Given the description of an element on the screen output the (x, y) to click on. 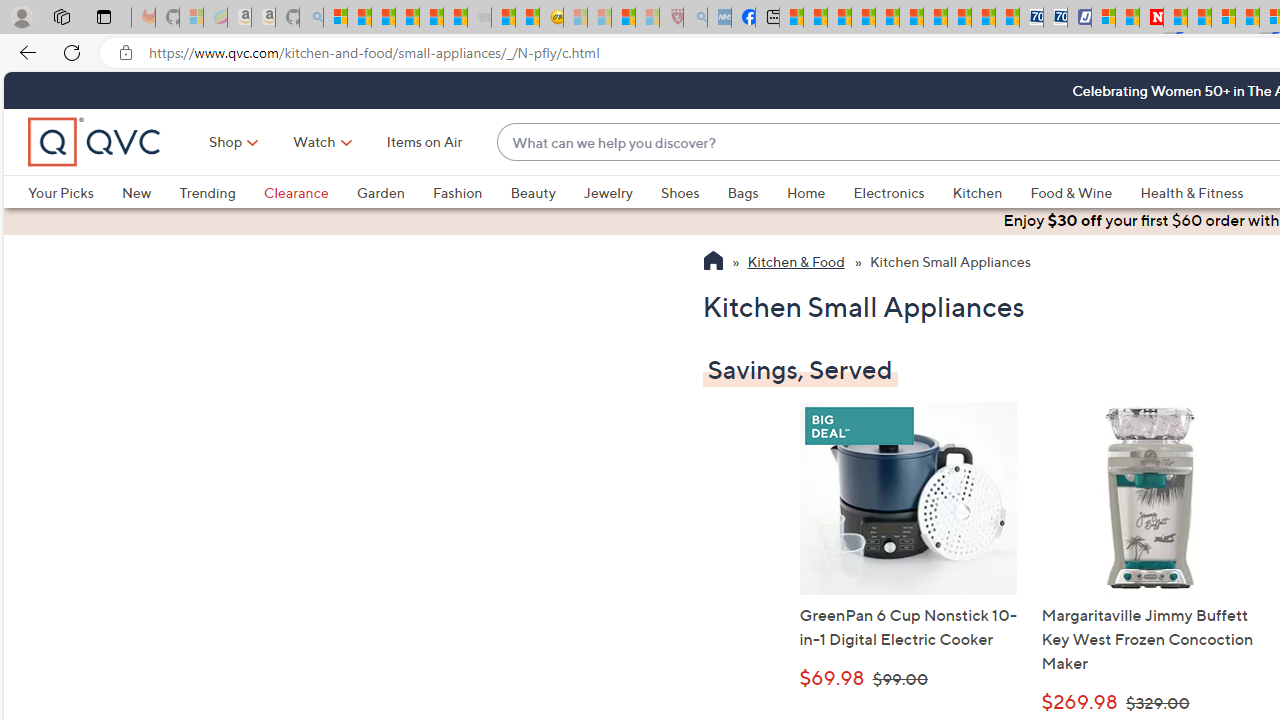
Beauty (532, 192)
Fashion (471, 192)
Garden (379, 192)
New Report Confirms 2023 Was Record Hot | Watch (430, 17)
Fashion (457, 192)
Return to QVC Homepage (712, 263)
New (136, 192)
